Given the description of an element on the screen output the (x, y) to click on. 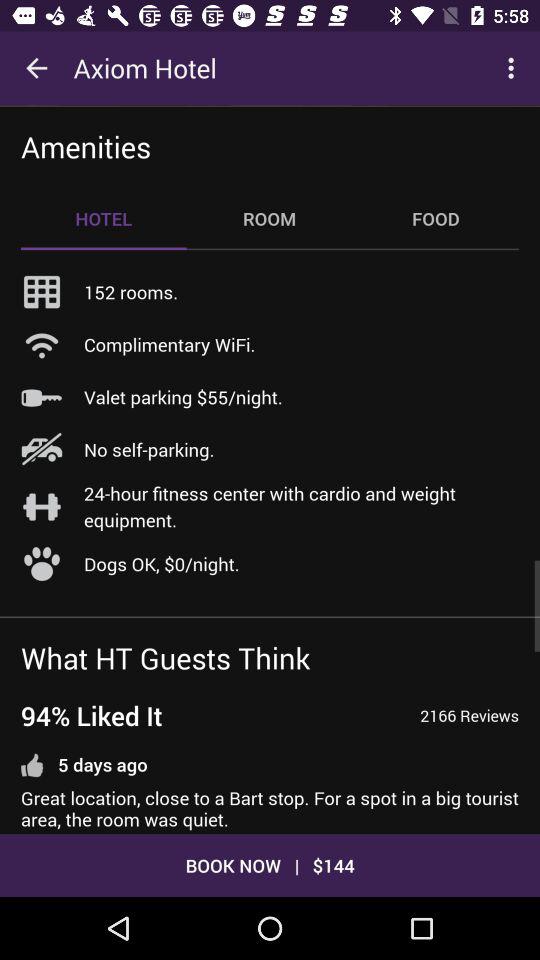
open amenities icon (86, 146)
